Given the description of an element on the screen output the (x, y) to click on. 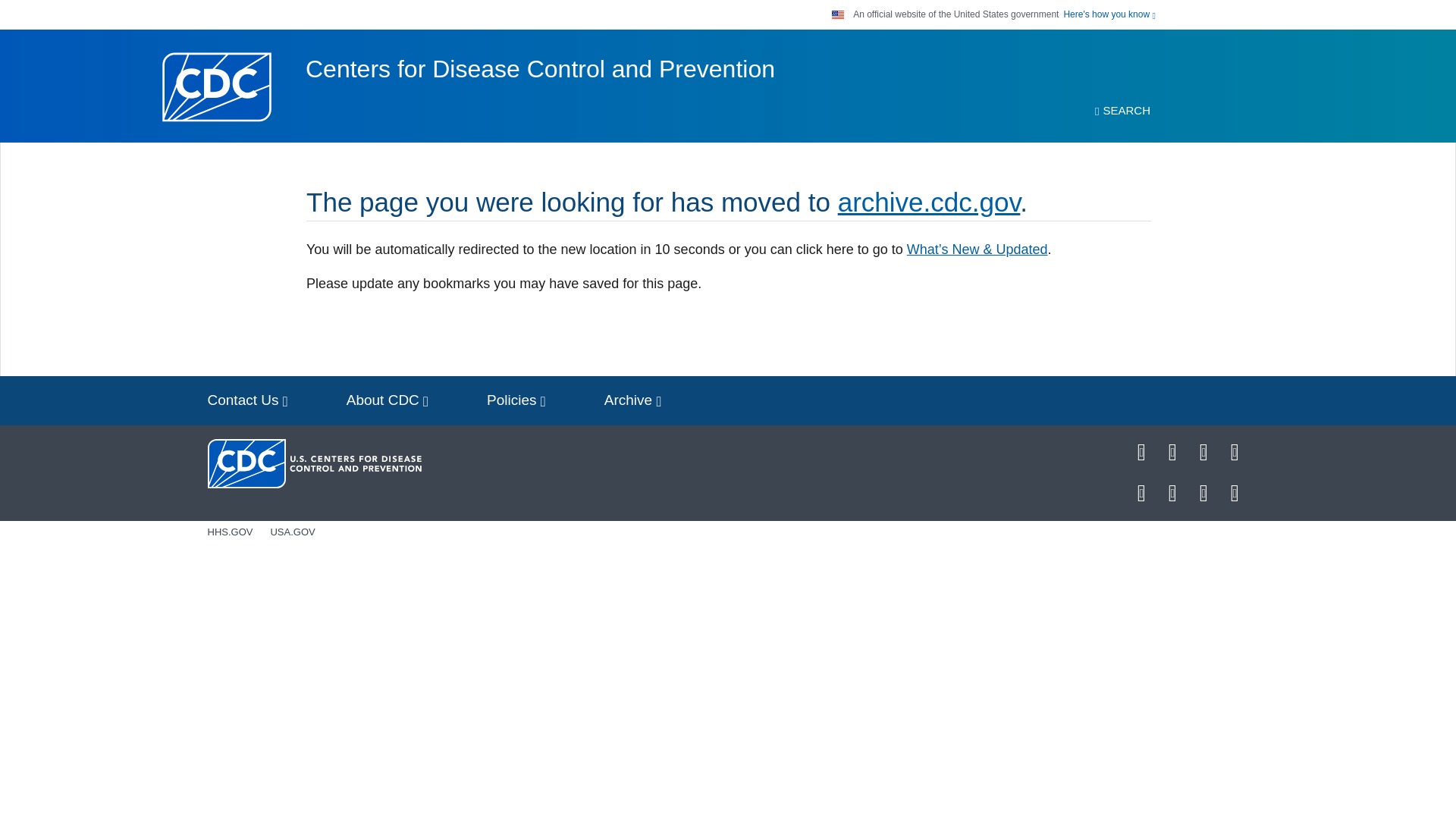
About CDC (387, 400)
SEARCH (1122, 110)
Policies (516, 400)
Contact Us (247, 400)
Archive (633, 400)
Centers for Disease Control and Prevention (539, 68)
Here's how you know (1108, 14)
archive.cdc.gov (929, 202)
